Given the description of an element on the screen output the (x, y) to click on. 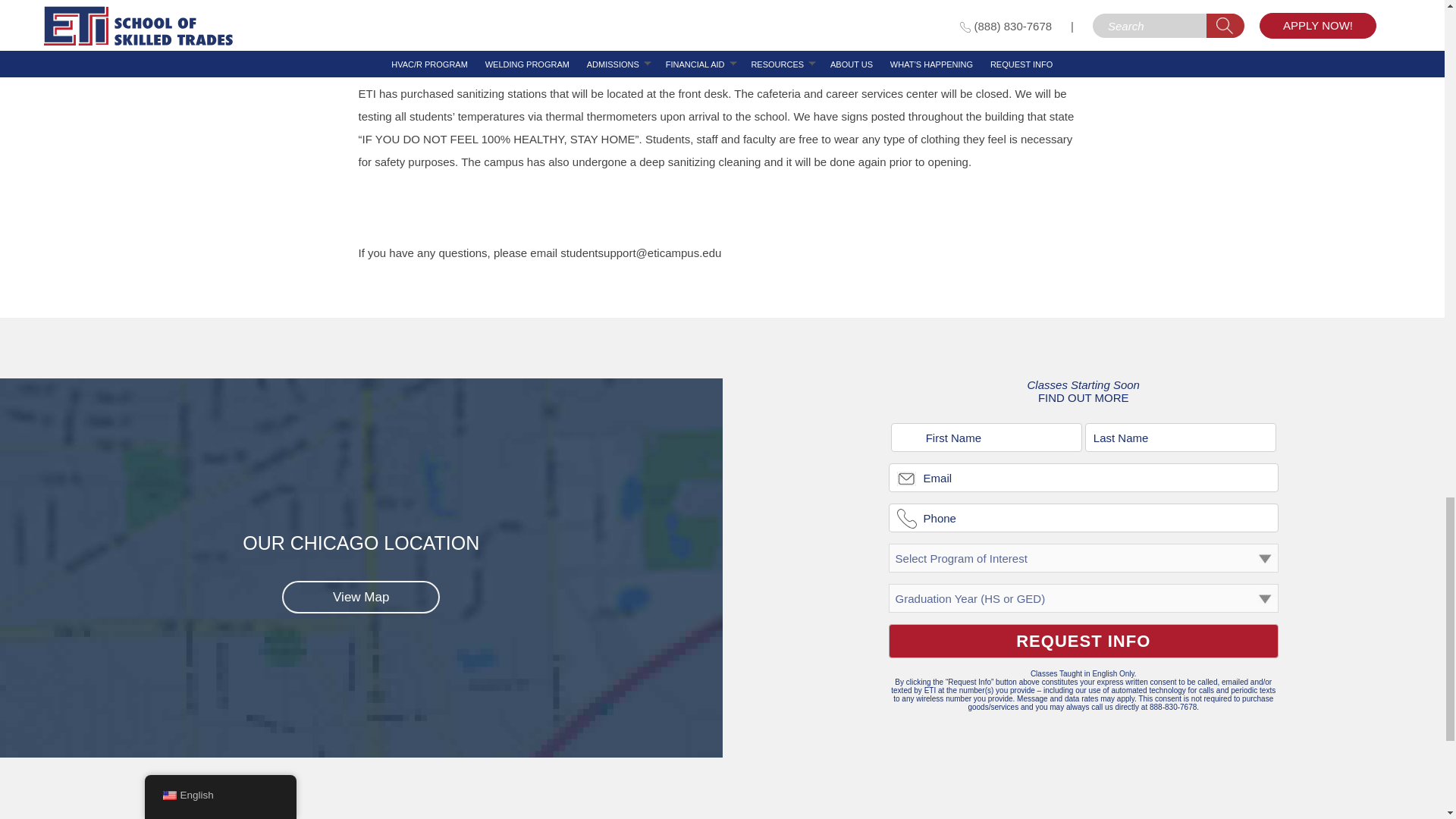
REQUEST INFO (1083, 641)
